Given the description of an element on the screen output the (x, y) to click on. 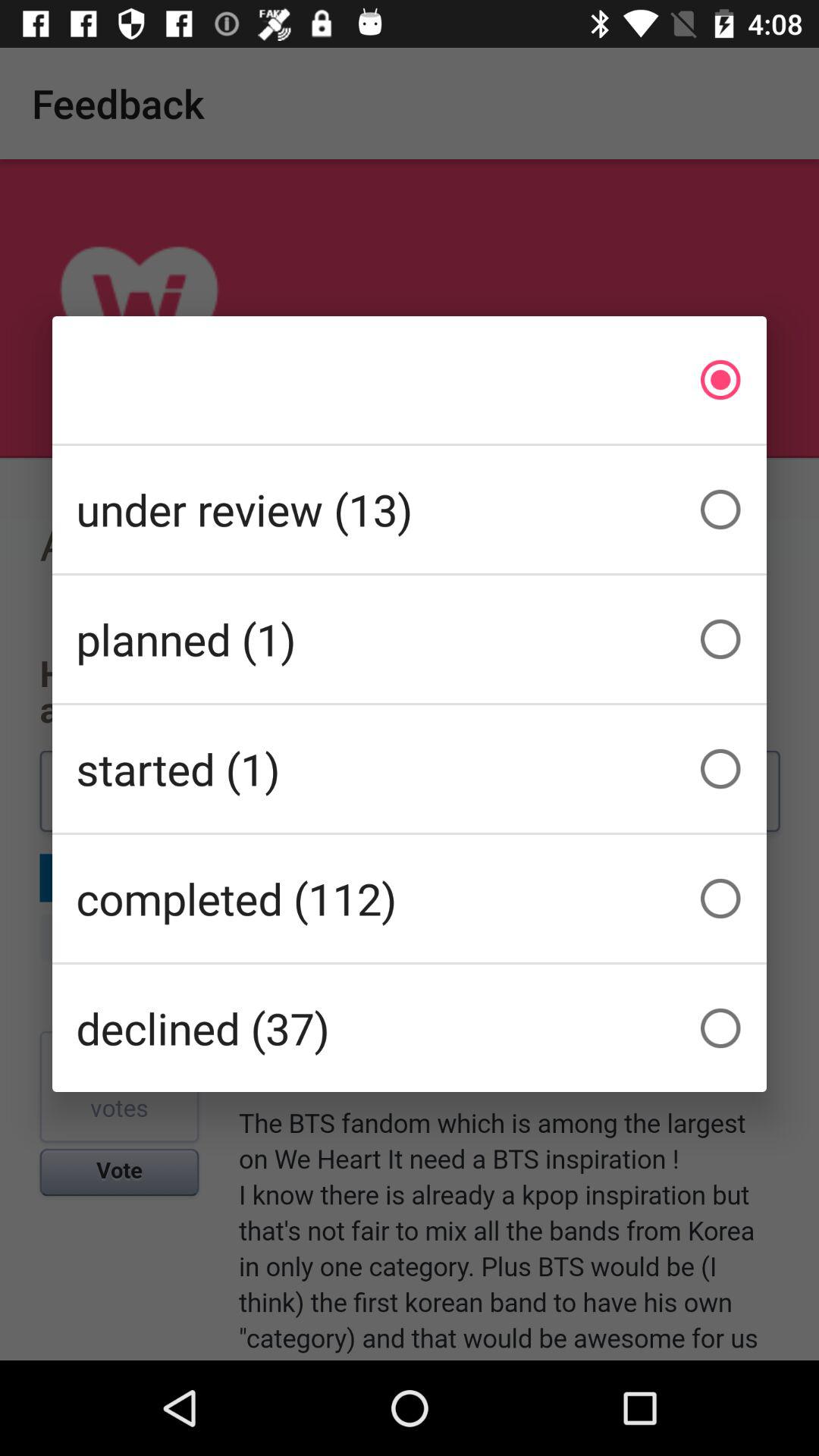
choose the item at the top (409, 379)
